Given the description of an element on the screen output the (x, y) to click on. 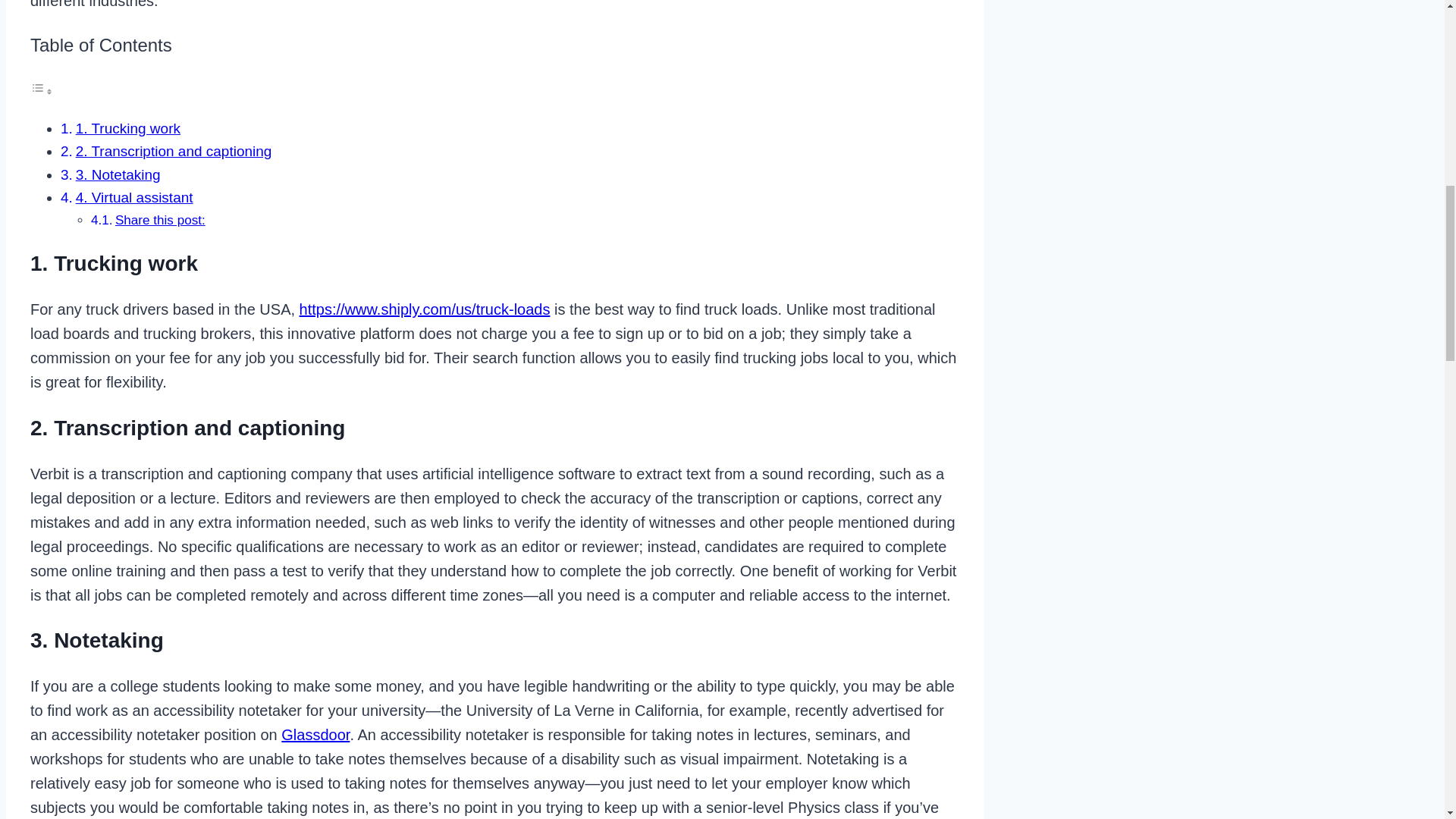
4. Virtual assistant (134, 197)
3. Notetaking (117, 174)
2. Transcription and captioning (173, 150)
Share this post: (160, 219)
Share this post: (160, 219)
Glassdoor (315, 734)
2. Transcription and captioning (173, 150)
3. Notetaking (117, 174)
1. Trucking work (127, 128)
4. Virtual assistant (134, 197)
